Given the description of an element on the screen output the (x, y) to click on. 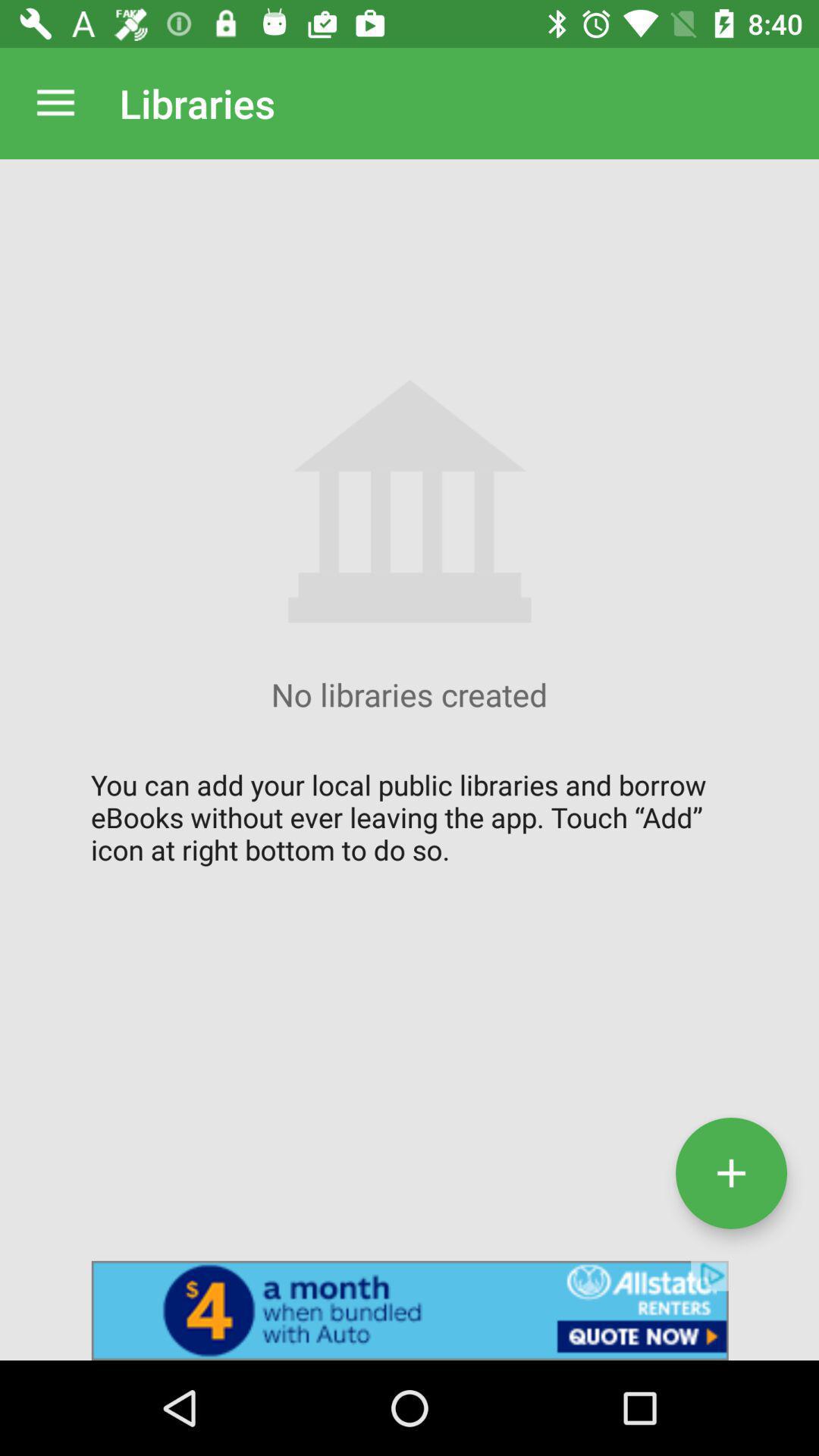
adds library (731, 1173)
